Given the description of an element on the screen output the (x, y) to click on. 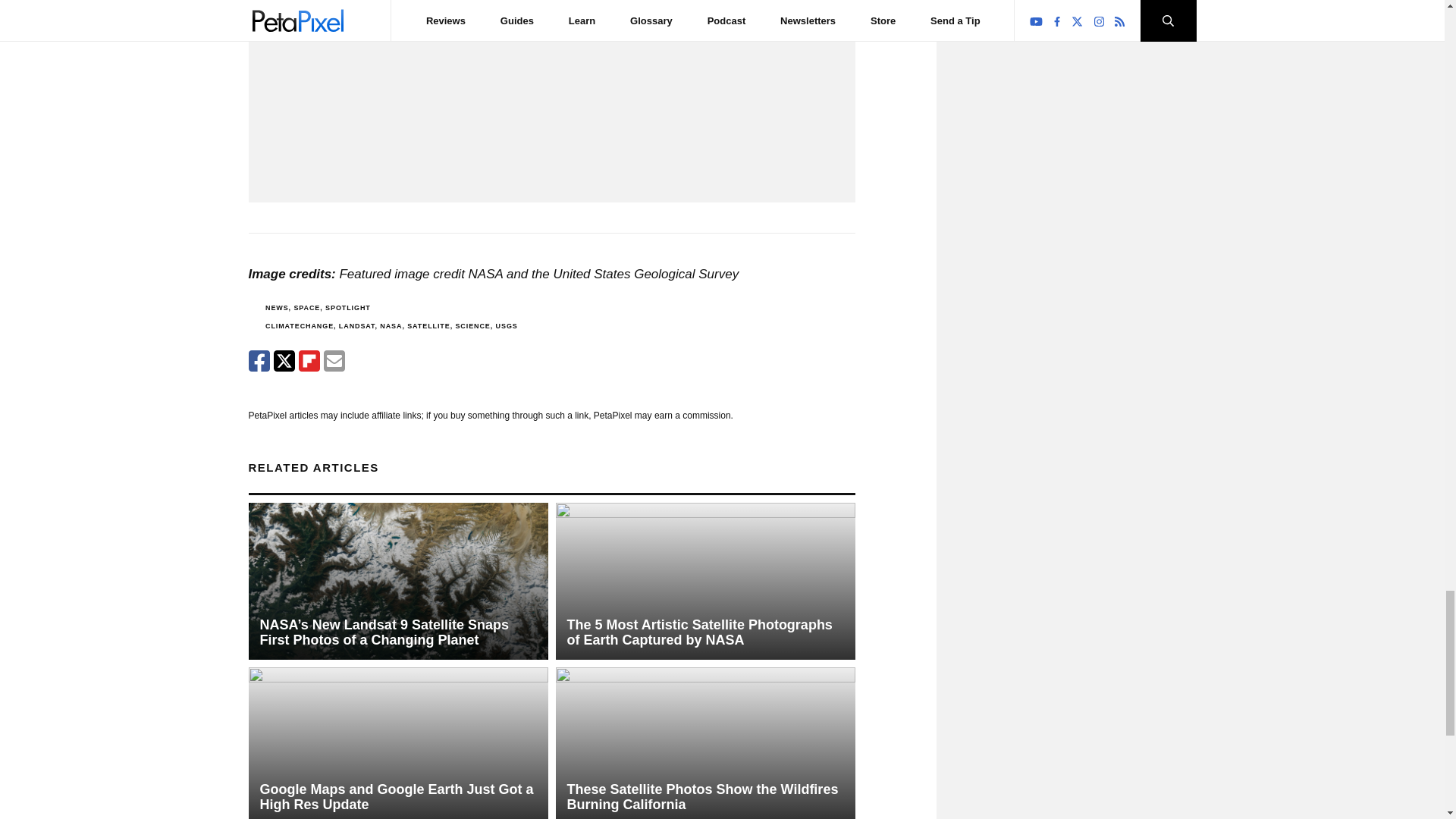
NEWS (276, 307)
CLIMATECHANGE (298, 326)
SPOTLIGHT (347, 307)
USGS (507, 326)
Share on facebook (258, 360)
Share on X (283, 360)
Email this article (333, 360)
SCIENCE (471, 326)
SATELLITE (428, 326)
NASA (390, 326)
SPACE (307, 307)
Share on Flipboard (309, 360)
LANDSAT (357, 326)
